Given the description of an element on the screen output the (x, y) to click on. 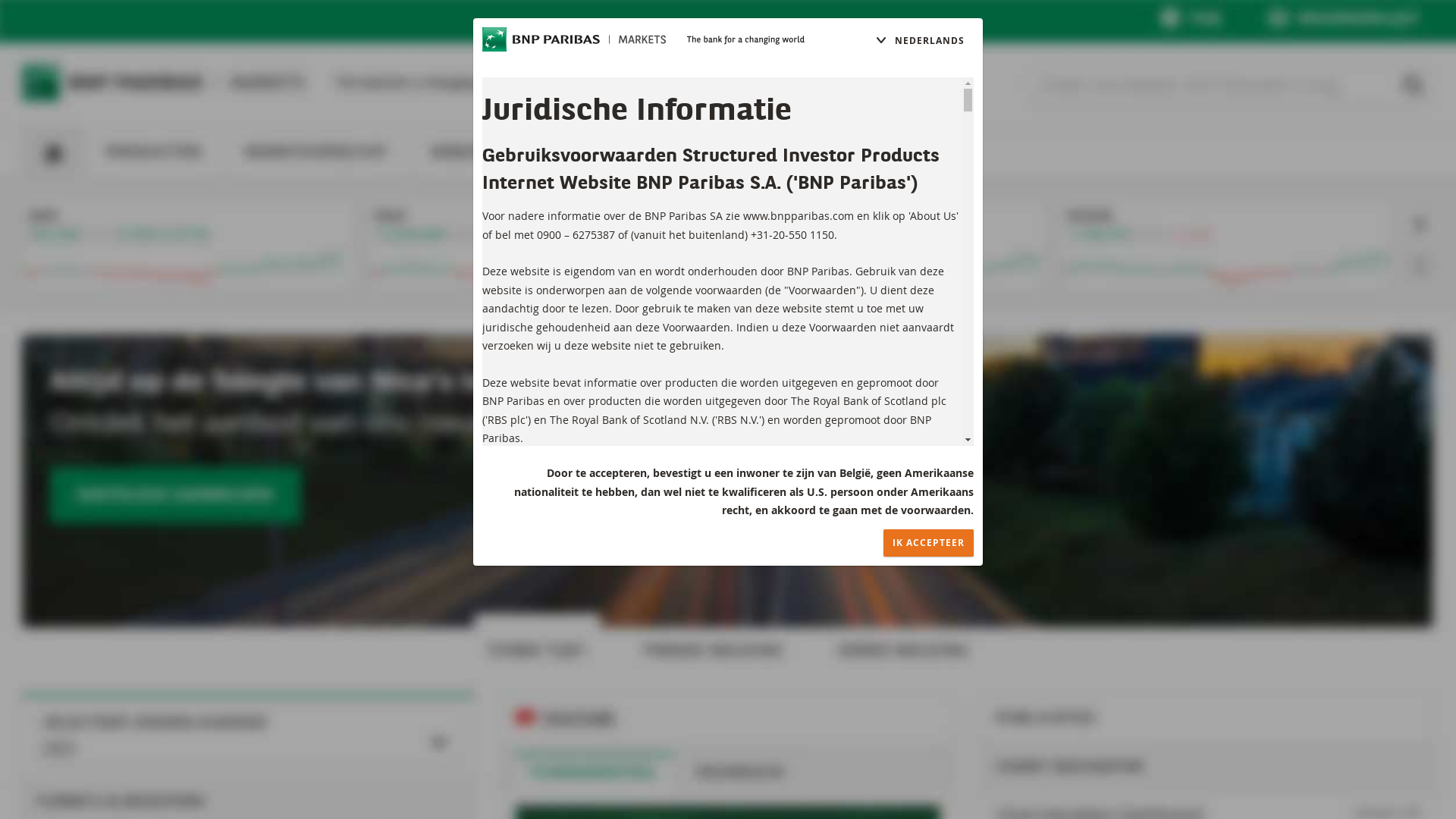
Navigeer naar de homepage Element type: hover (573, 39)
NEDERLANDS Element type: text (919, 40)
Ik accepteer Element type: text (928, 542)
